Given the description of an element on the screen output the (x, y) to click on. 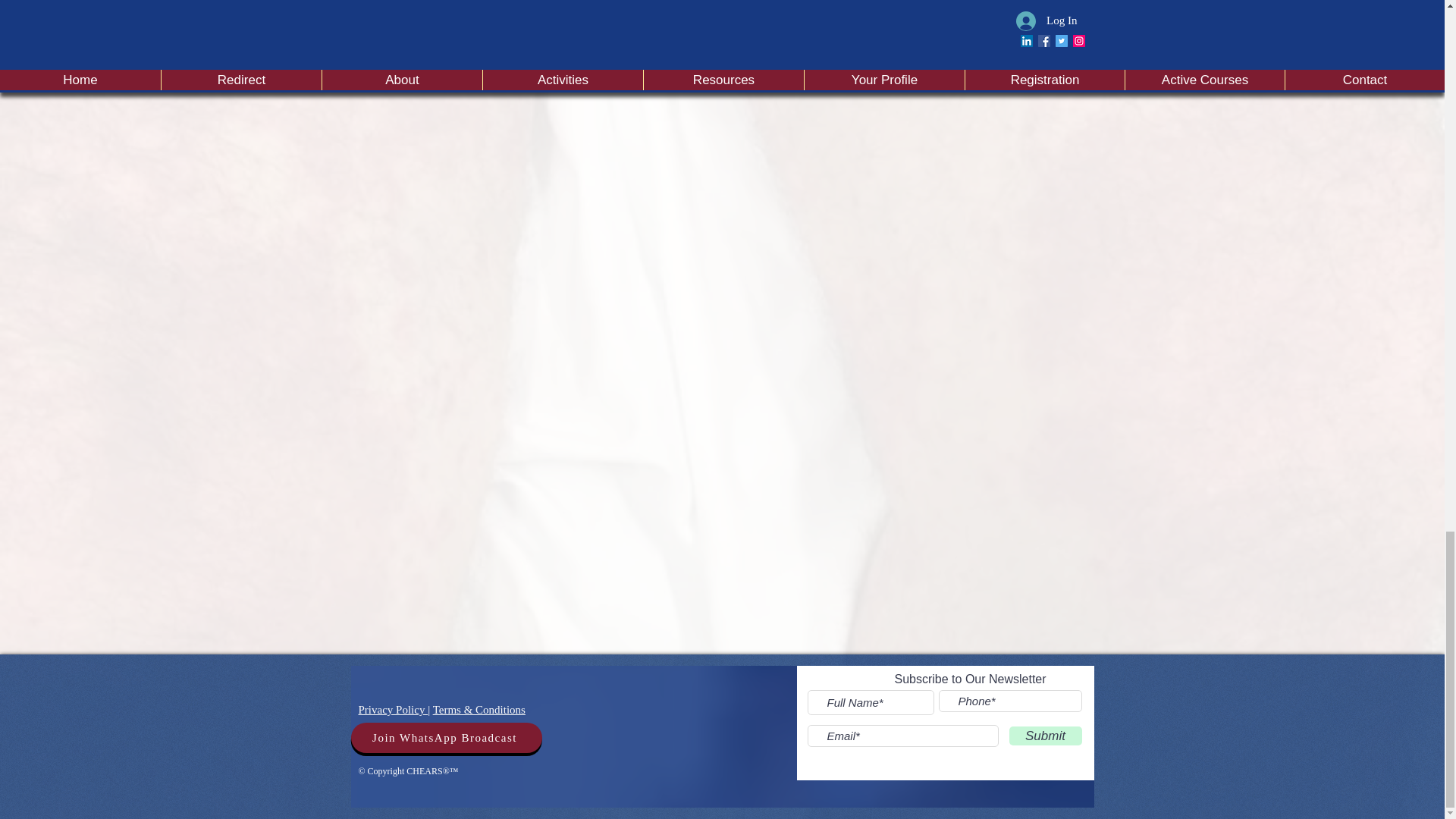
Read (544, 55)
Read (1055, 45)
Join WhatsApp Broadcast (445, 737)
Read (800, 45)
Privacy Policy (393, 709)
Submit (1045, 735)
